Given the description of an element on the screen output the (x, y) to click on. 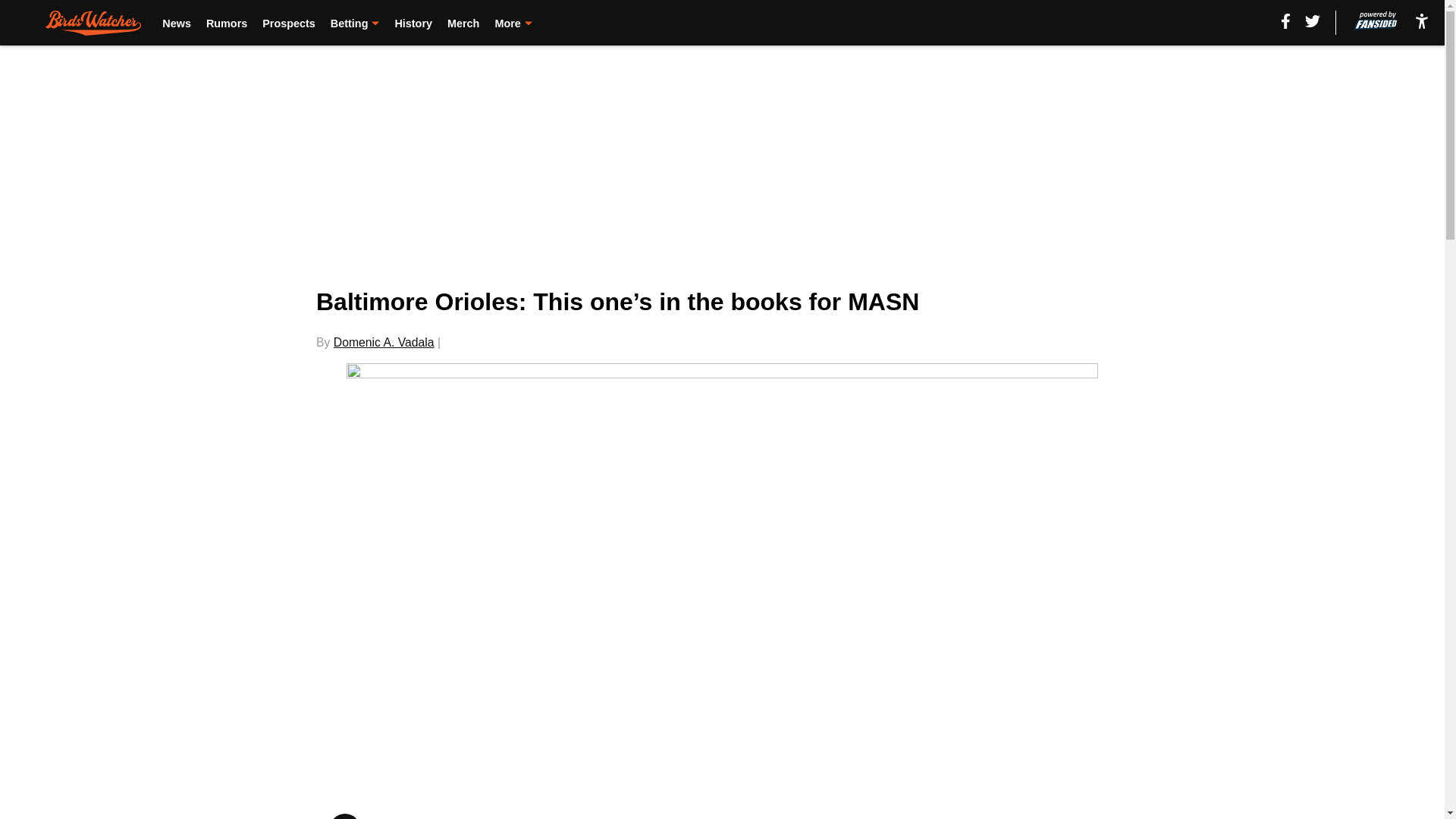
Domenic A. Vadala (383, 341)
Rumors (226, 23)
Merch (462, 23)
Prospects (288, 23)
News (175, 23)
History (413, 23)
